Given the description of an element on the screen output the (x, y) to click on. 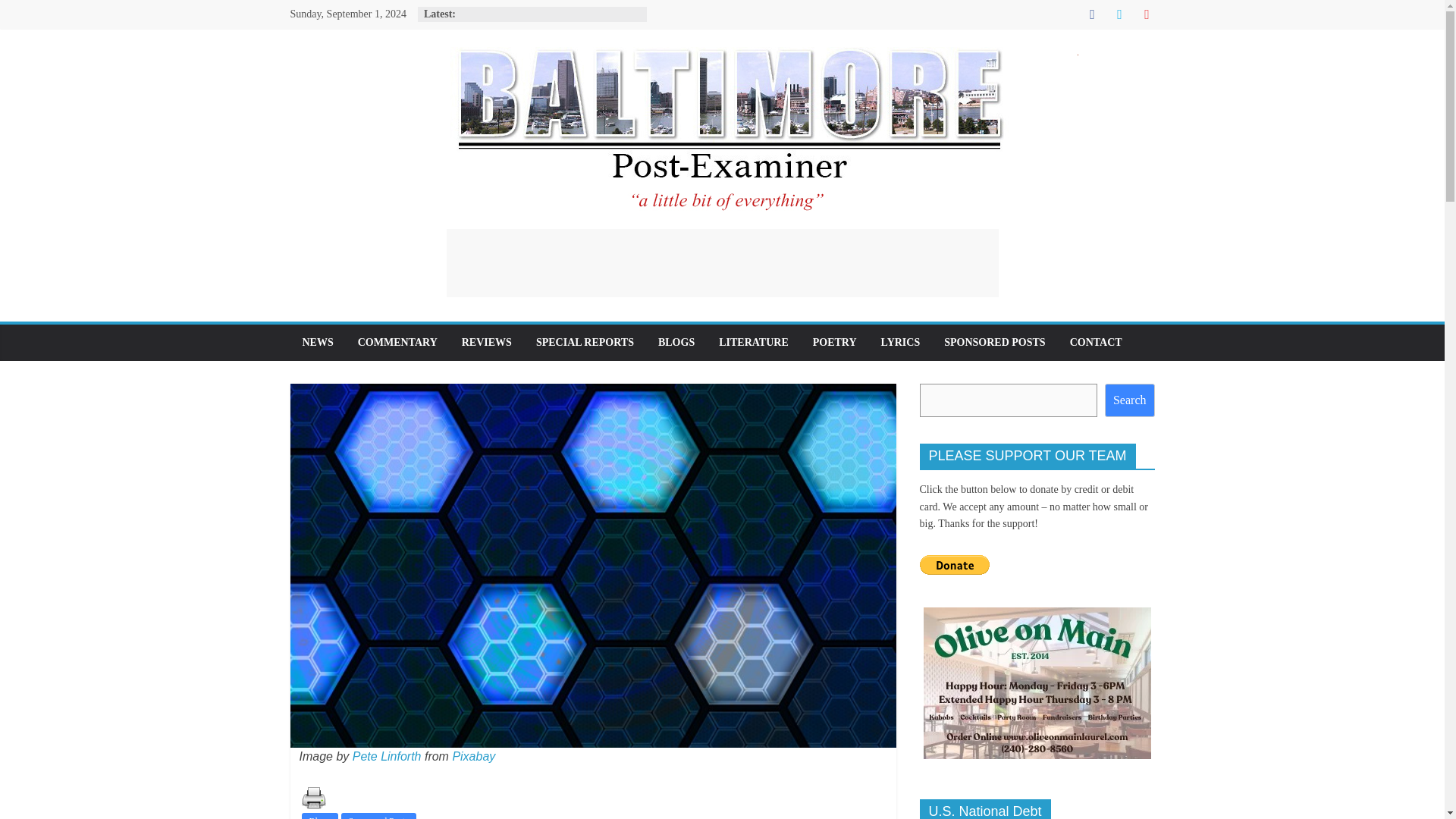
Pixabay (473, 756)
POETRY (834, 342)
NEWS (317, 342)
LYRICS (901, 342)
Pete Linforth (387, 756)
REVIEWS (486, 342)
SPONSORED POSTS (994, 342)
Blogs (319, 816)
COMMENTARY (397, 342)
BLOGS (676, 342)
